Given the description of an element on the screen output the (x, y) to click on. 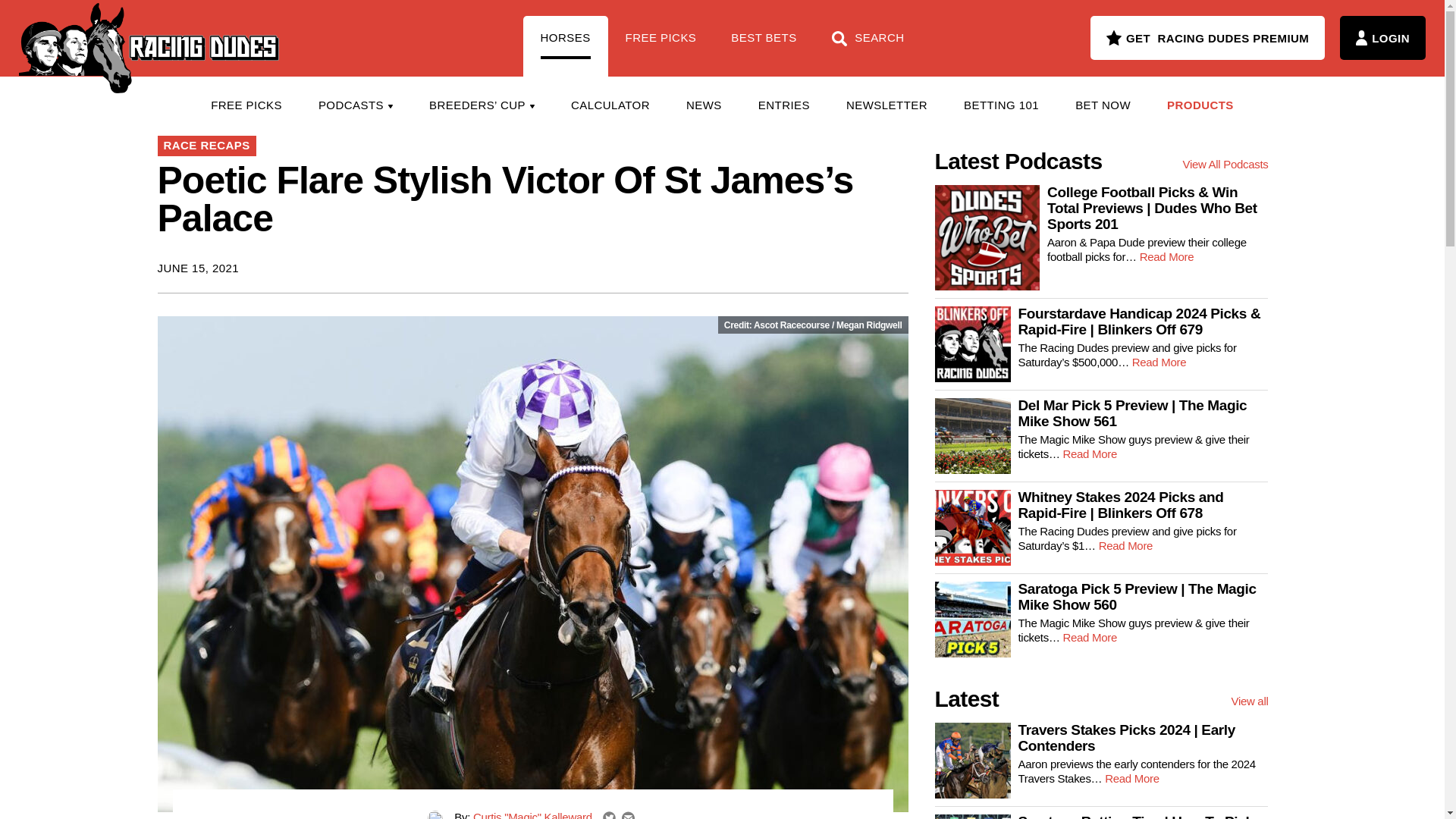
FREE PICKS (661, 45)
GET  RACING DUDES PREMIUM (1207, 37)
LOGIN (1382, 37)
 SEARCH (867, 45)
Posts by Curtis "Magic" Kalleward (532, 814)
FREE PICKS (245, 105)
PODCASTS (354, 105)
HORSES (565, 45)
BEST BETS (763, 45)
